Given the description of an element on the screen output the (x, y) to click on. 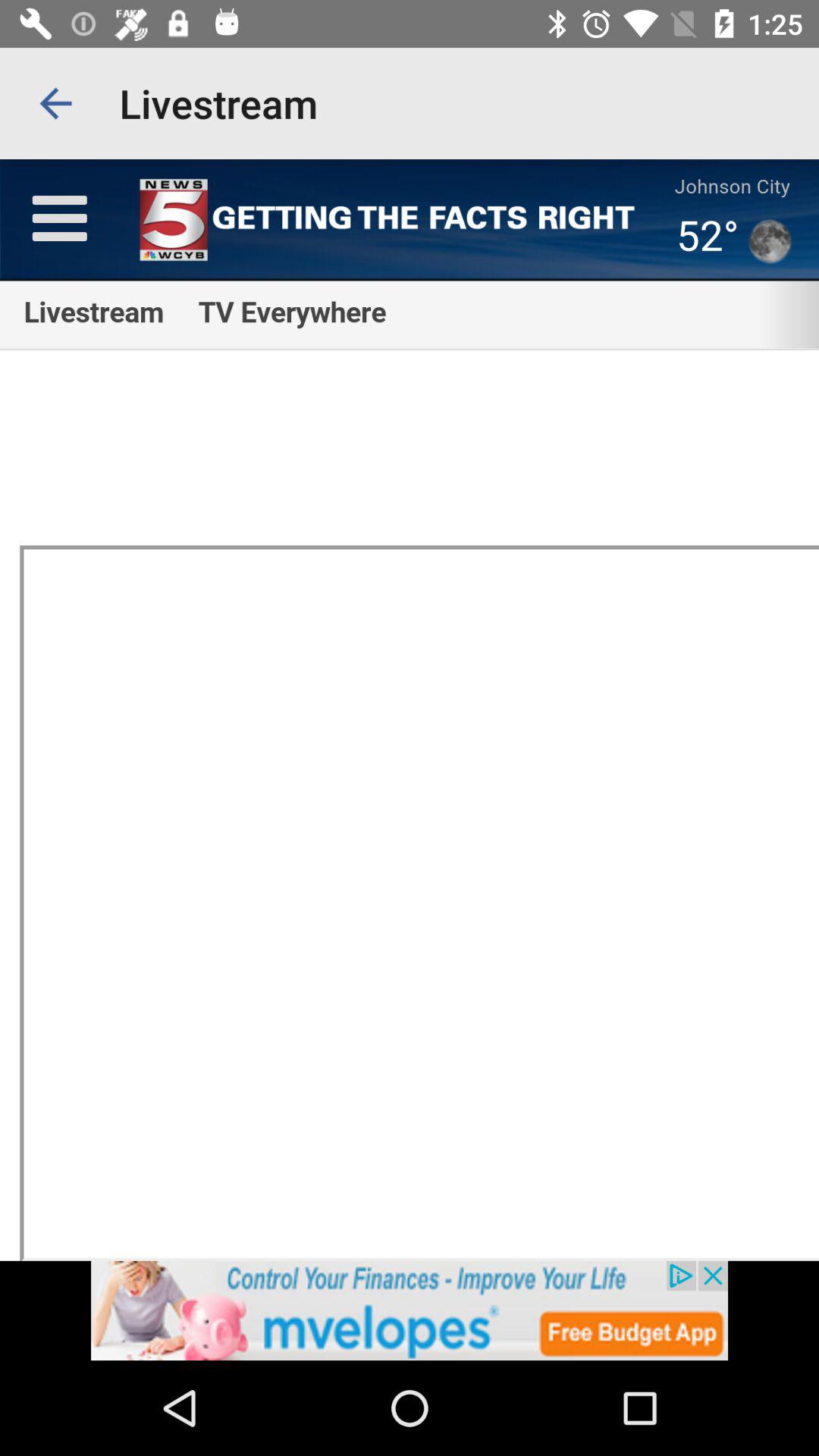
view advertisement (409, 1310)
